Given the description of an element on the screen output the (x, y) to click on. 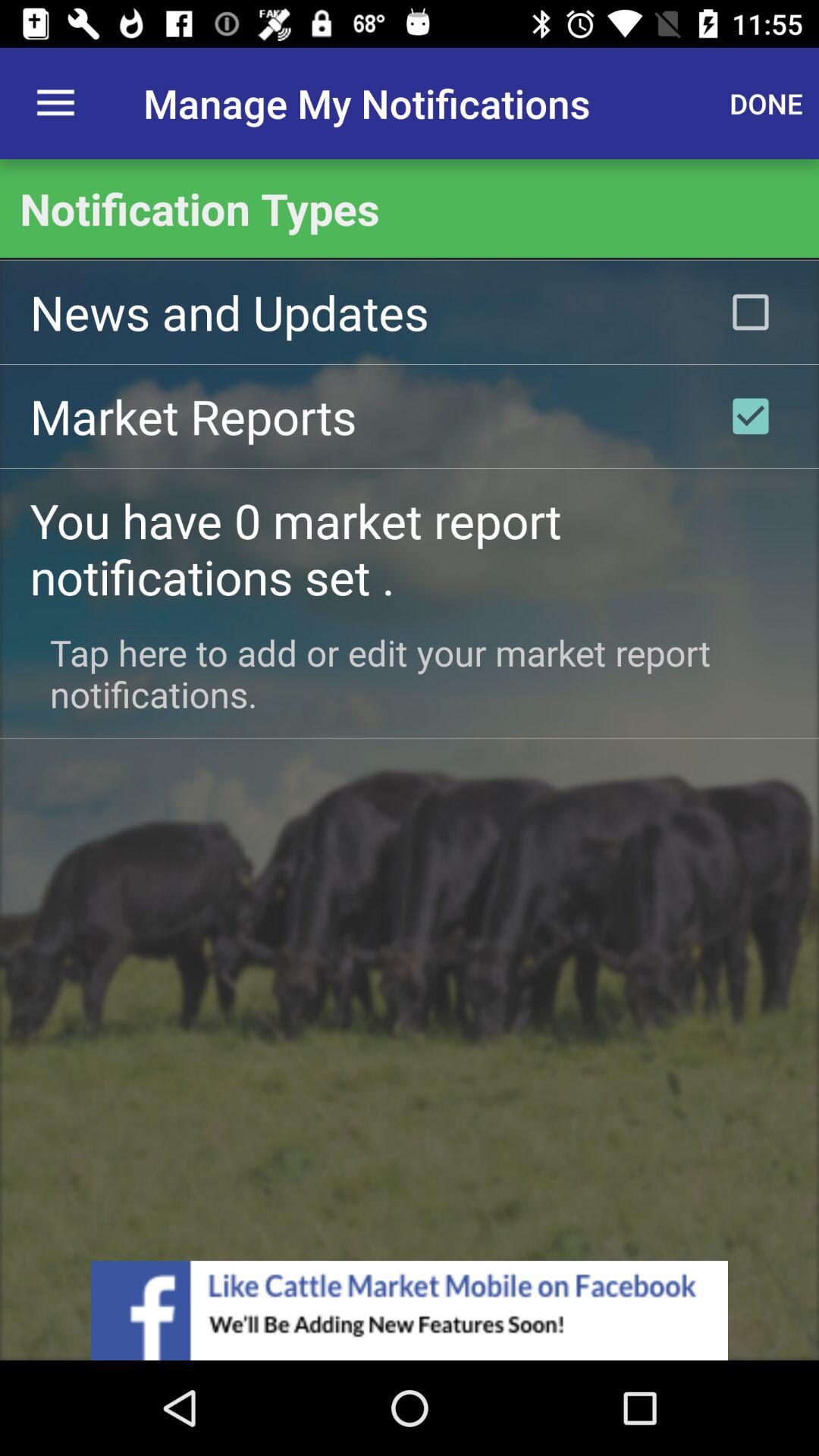
go to write (750, 416)
